Given the description of an element on the screen output the (x, y) to click on. 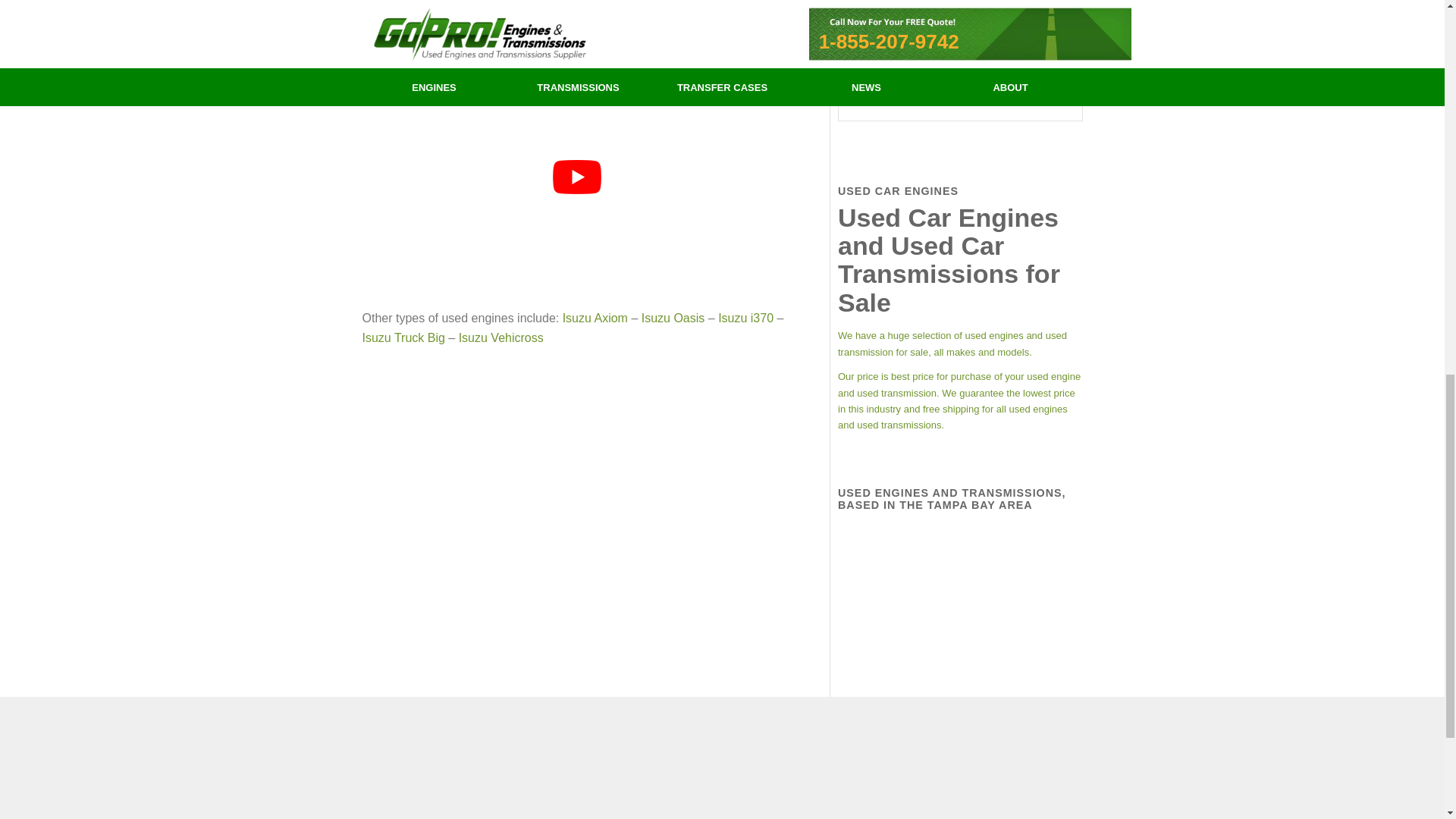
Isuzu i370 (745, 318)
Isuzu Truck Big (403, 337)
Isuzu Vehicross (500, 337)
Isuzu Axiom (594, 318)
Isuzu Oasis (673, 318)
